Given the description of an element on the screen output the (x, y) to click on. 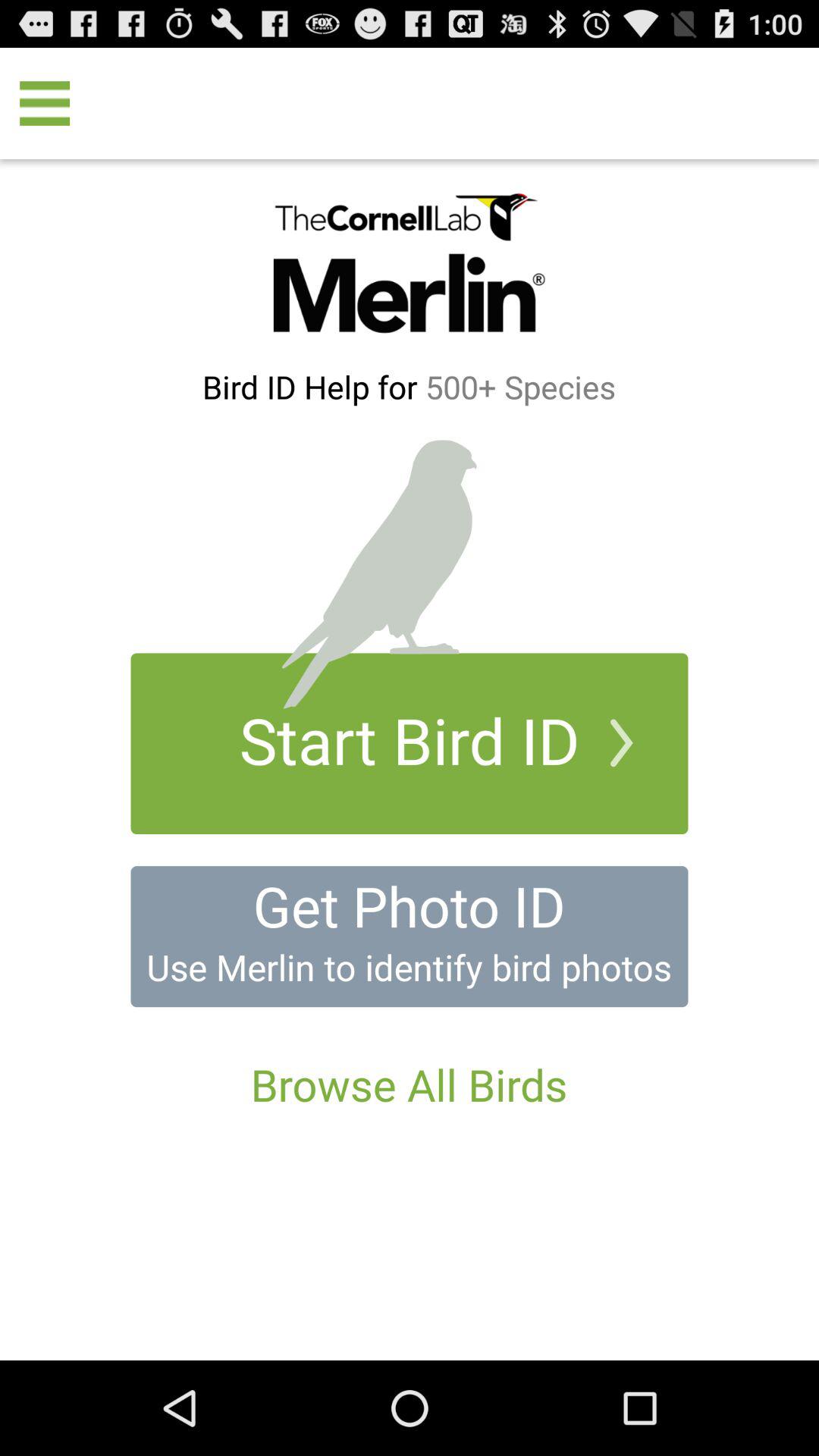
scroll until browse all birds item (408, 1084)
